Given the description of an element on the screen output the (x, y) to click on. 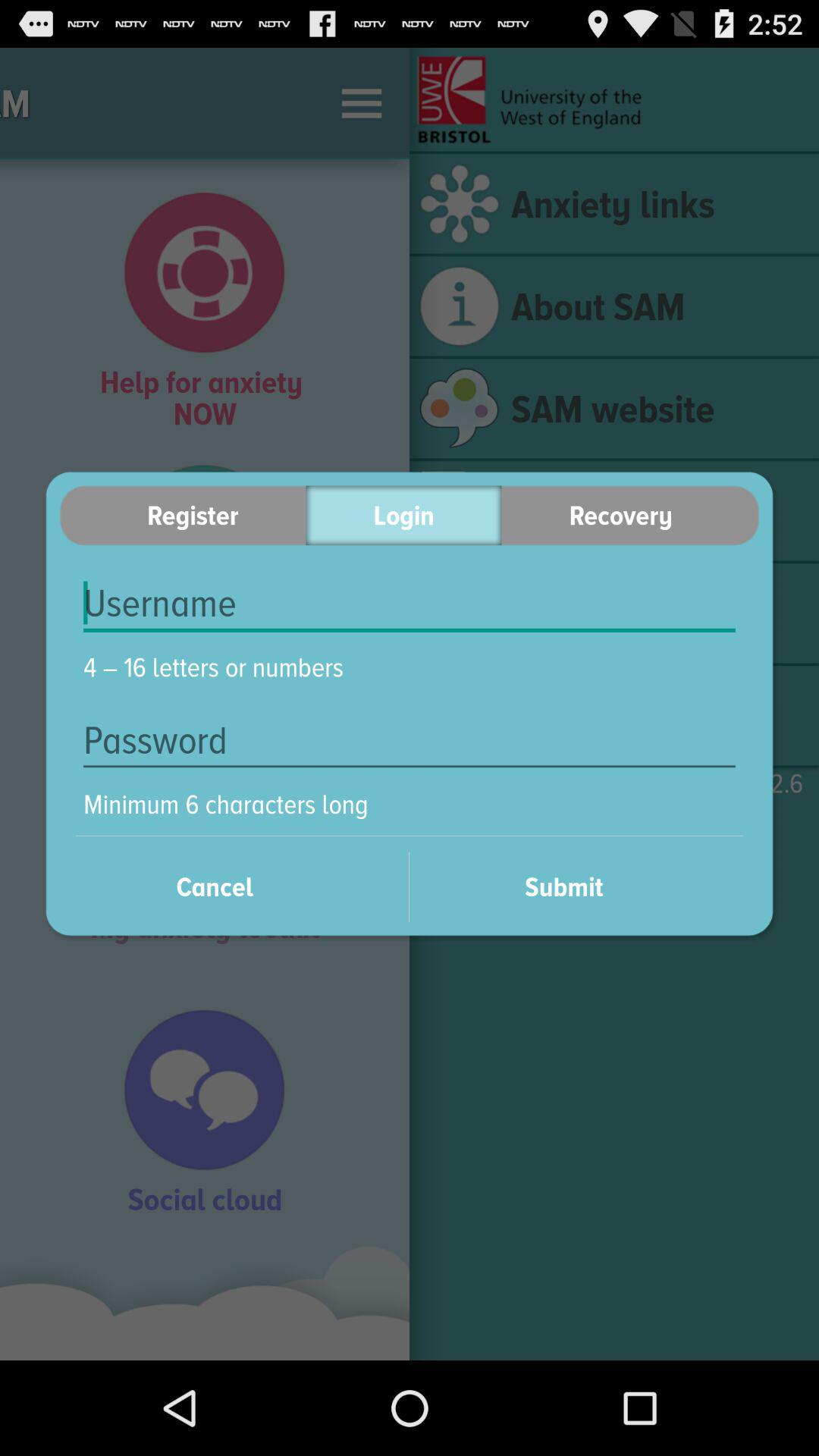
jump to the register icon (182, 515)
